Given the description of an element on the screen output the (x, y) to click on. 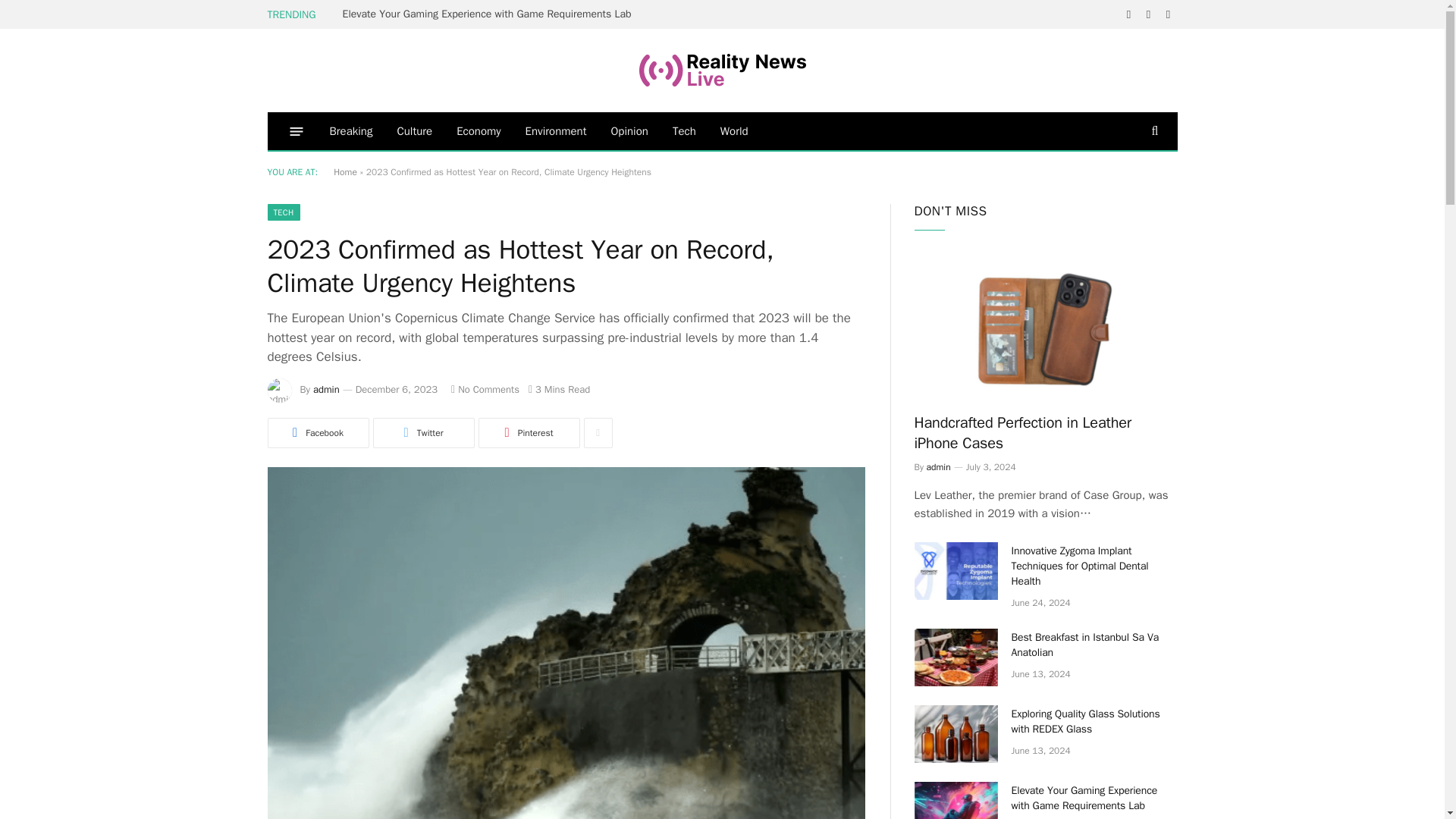
Reality News Live (722, 70)
TECH (282, 211)
Share on Pinterest (528, 432)
World (733, 130)
Breaking (350, 130)
Posts by admin (326, 389)
Tech (684, 130)
Economy (478, 130)
No Comments (485, 389)
Environment (555, 130)
Culture (414, 130)
Elevate Your Gaming Experience with Game Requirements Lab (490, 14)
Home (344, 172)
Opinion (628, 130)
admin (326, 389)
